Given the description of an element on the screen output the (x, y) to click on. 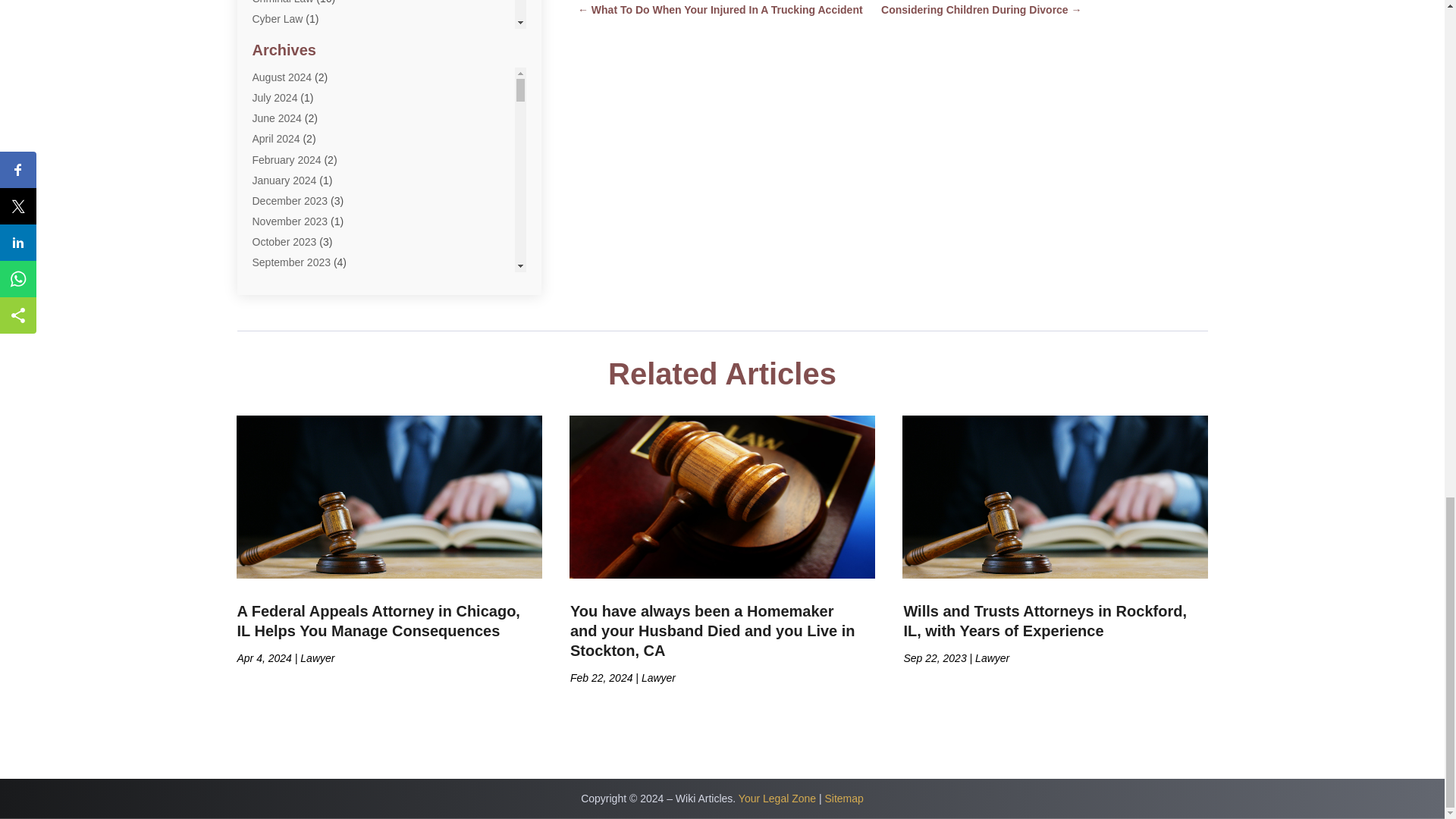
Cyber Law (276, 19)
DWI Lawyers (282, 101)
Dui Law Attorneys (294, 80)
Divorce Lawyer (287, 39)
Family Law (278, 143)
Employment Law (292, 121)
Criminal Law (282, 2)
Divorce Service (288, 60)
General (270, 163)
